Given the description of an element on the screen output the (x, y) to click on. 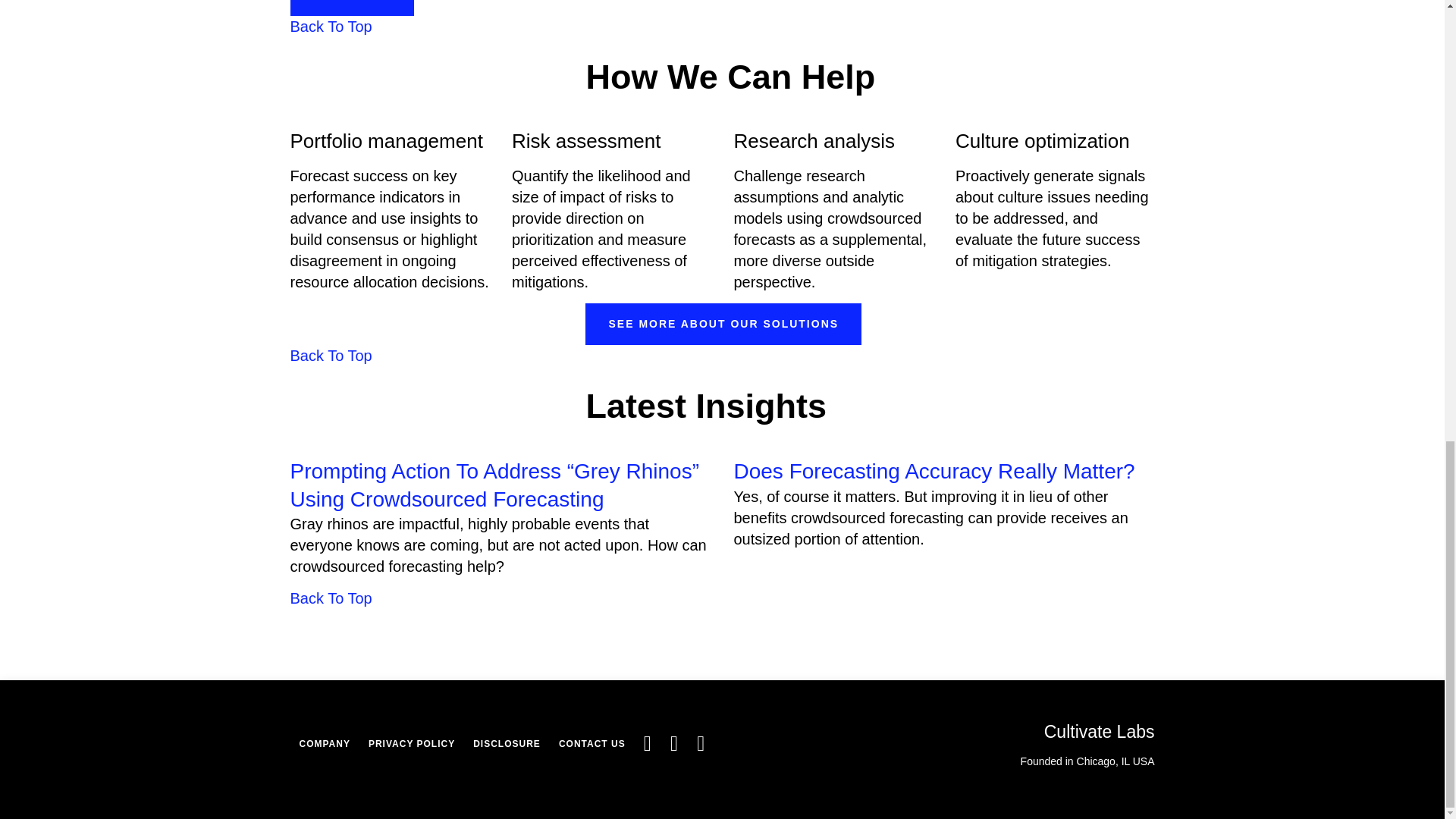
Back To Top (330, 26)
Back To Top (330, 597)
translation missing: en.Back to Top (330, 26)
COMPANY (323, 743)
translation missing: en.Back to Top (330, 355)
PRIVACY POLICY (411, 743)
translation missing: en.See more about our solutions (723, 323)
SEE MORE ABOUT OUR SOLUTIONS (723, 323)
READ MORE (351, 7)
translation missing: en.Back to Top (330, 597)
Back To Top (330, 355)
CONTACT US (592, 743)
Does Forecasting Accuracy Really Matter? (934, 471)
